Given the description of an element on the screen output the (x, y) to click on. 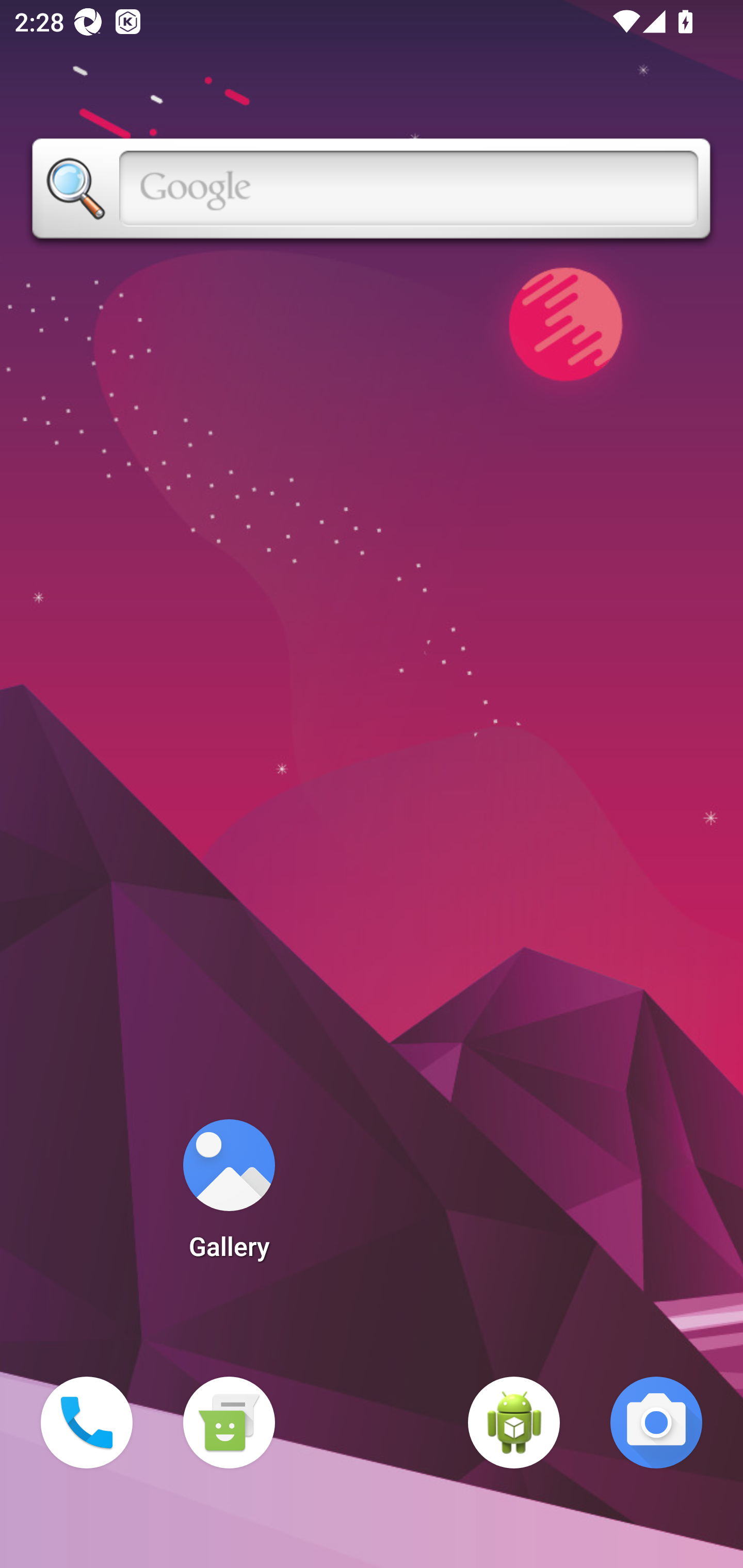
Gallery (228, 1195)
Phone (86, 1422)
Messaging (228, 1422)
WebView Browser Tester (513, 1422)
Camera (656, 1422)
